Given the description of an element on the screen output the (x, y) to click on. 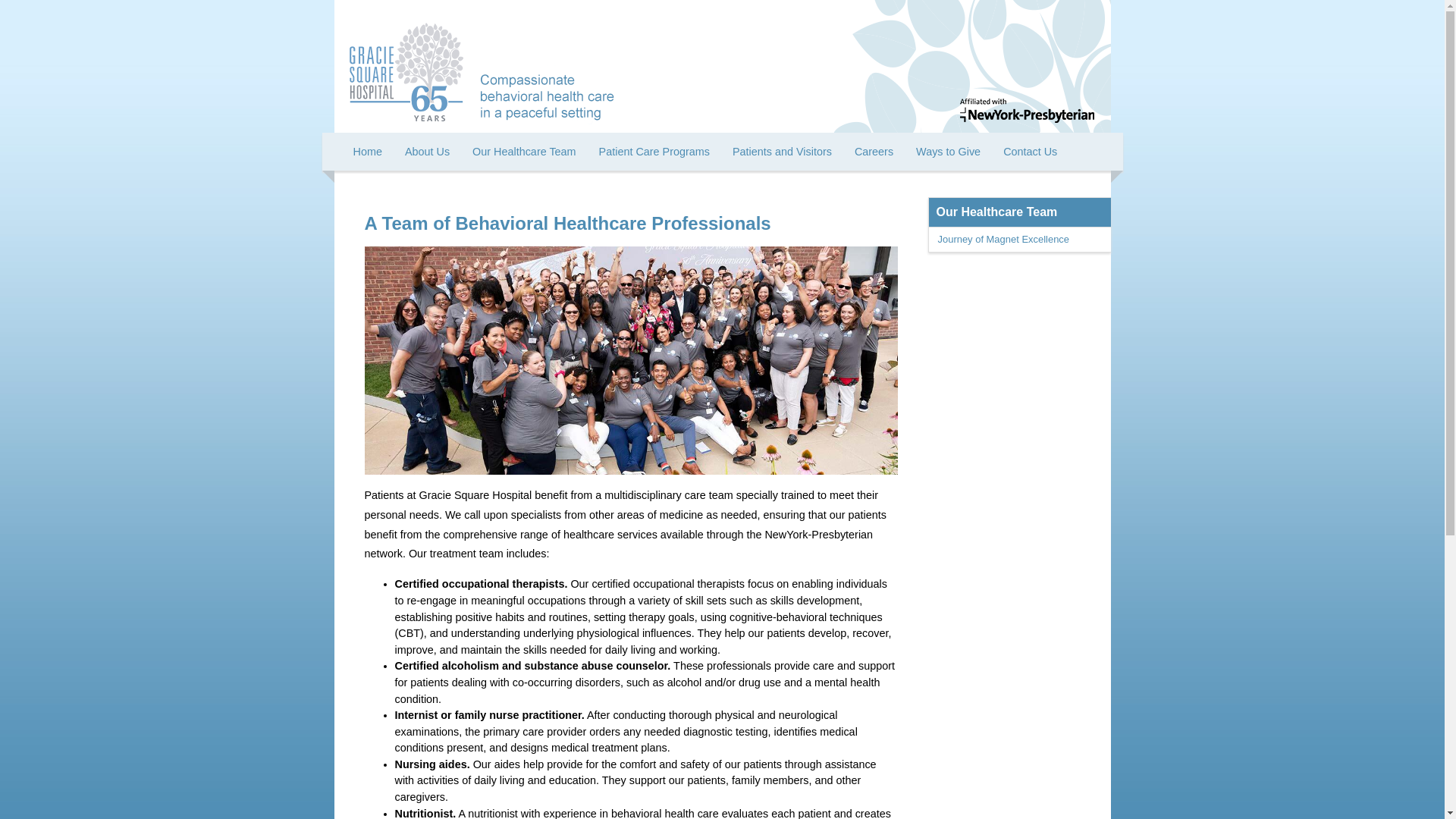
Careers (873, 151)
Home (366, 151)
Journey of Magnet Excellence (1018, 239)
Patient Care Programs (654, 151)
Ways to Give (947, 151)
About Us (427, 151)
Patients and Visitors (781, 151)
Our Healthcare Team (524, 151)
Our Healthcare Team (996, 211)
Gracie Square Hospital (406, 64)
